Given the description of an element on the screen output the (x, y) to click on. 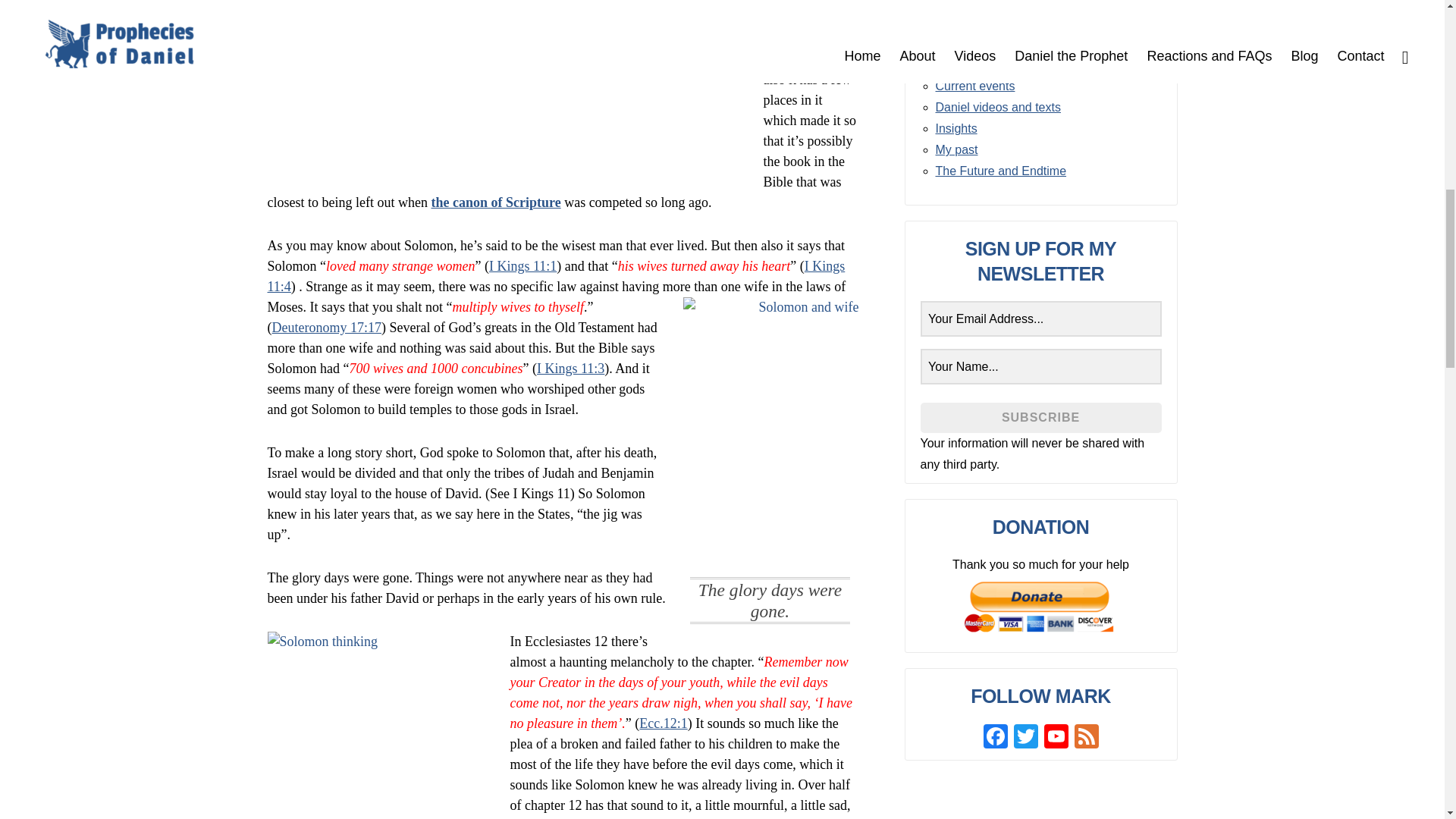
YouTube Channel (1055, 737)
RSS Feed (1085, 737)
Facebook (994, 737)
Twitter (1025, 737)
